Given the description of an element on the screen output the (x, y) to click on. 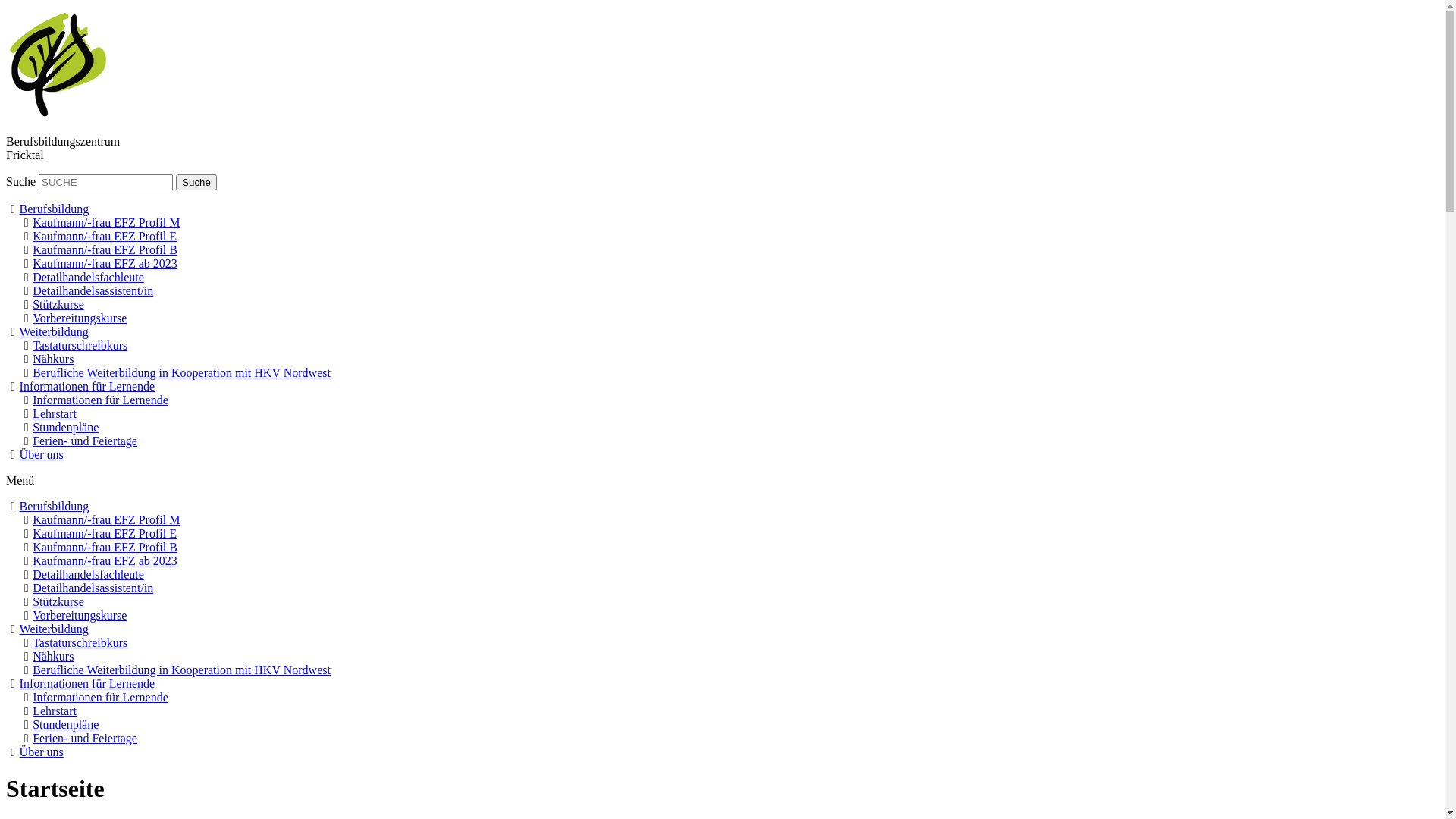
Weiterbildung Element type: text (53, 628)
Weiterbildung Element type: text (53, 331)
Vorbereitungskurse Element type: text (79, 317)
Vorbereitungskurse Element type: text (79, 614)
Ferien- und Feiertage Element type: text (84, 737)
Kaufmann/-frau EFZ ab 2023 Element type: text (104, 263)
Kaufmann/-frau EFZ Profil B Element type: text (104, 249)
Tastaturschreibkurs Element type: text (79, 642)
Berufsbildung Element type: text (54, 208)
Kaufmann/-frau EFZ Profil M Element type: text (105, 222)
Kaufmann/-frau EFZ Profil E Element type: text (104, 235)
Suche Element type: text (195, 182)
Lehrstart Element type: text (54, 413)
Kaufmann/-frau EFZ Profil M Element type: text (105, 519)
Berufsbildung Element type: text (54, 505)
Detailhandelsfachleute Element type: text (88, 573)
Detailhandelsfachleute Element type: text (88, 276)
Kaufmann/-frau EFZ Profil B Element type: text (104, 546)
Detailhandelsassistent/in Element type: text (92, 290)
Lindenblatt_freigestellt_farbig Element type: hover (57, 62)
Kaufmann/-frau EFZ Profil E Element type: text (104, 533)
Kaufmann/-frau EFZ ab 2023 Element type: text (104, 560)
Lehrstart Element type: text (54, 710)
Ferien- und Feiertage Element type: text (84, 440)
Berufliche Weiterbildung in Kooperation mit HKV Nordwest Element type: text (181, 669)
Berufliche Weiterbildung in Kooperation mit HKV Nordwest Element type: text (181, 372)
Detailhandelsassistent/in Element type: text (92, 587)
Tastaturschreibkurs Element type: text (79, 344)
